Given the description of an element on the screen output the (x, y) to click on. 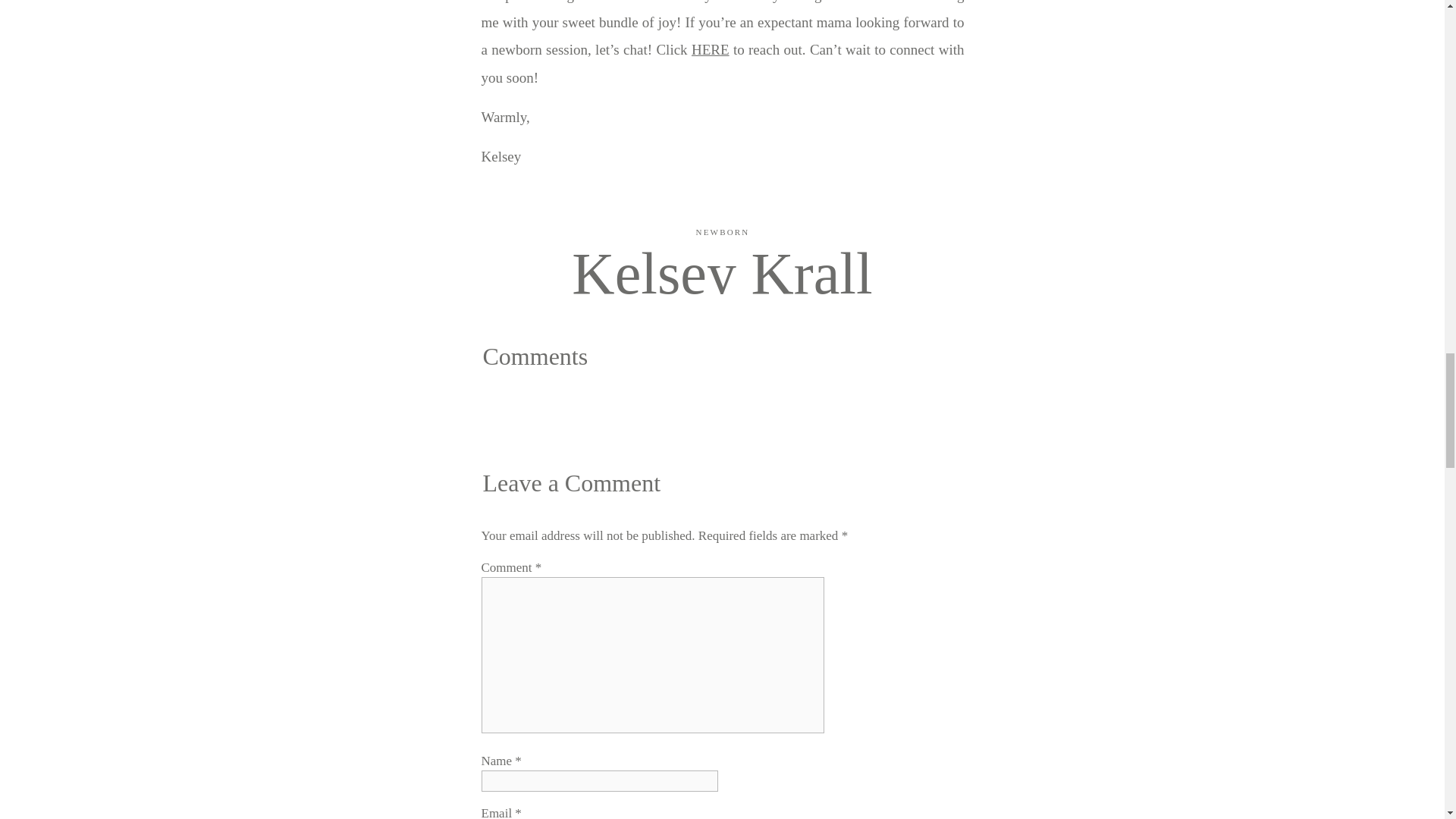
HERE (710, 49)
NEWBORN (722, 231)
